Given the description of an element on the screen output the (x, y) to click on. 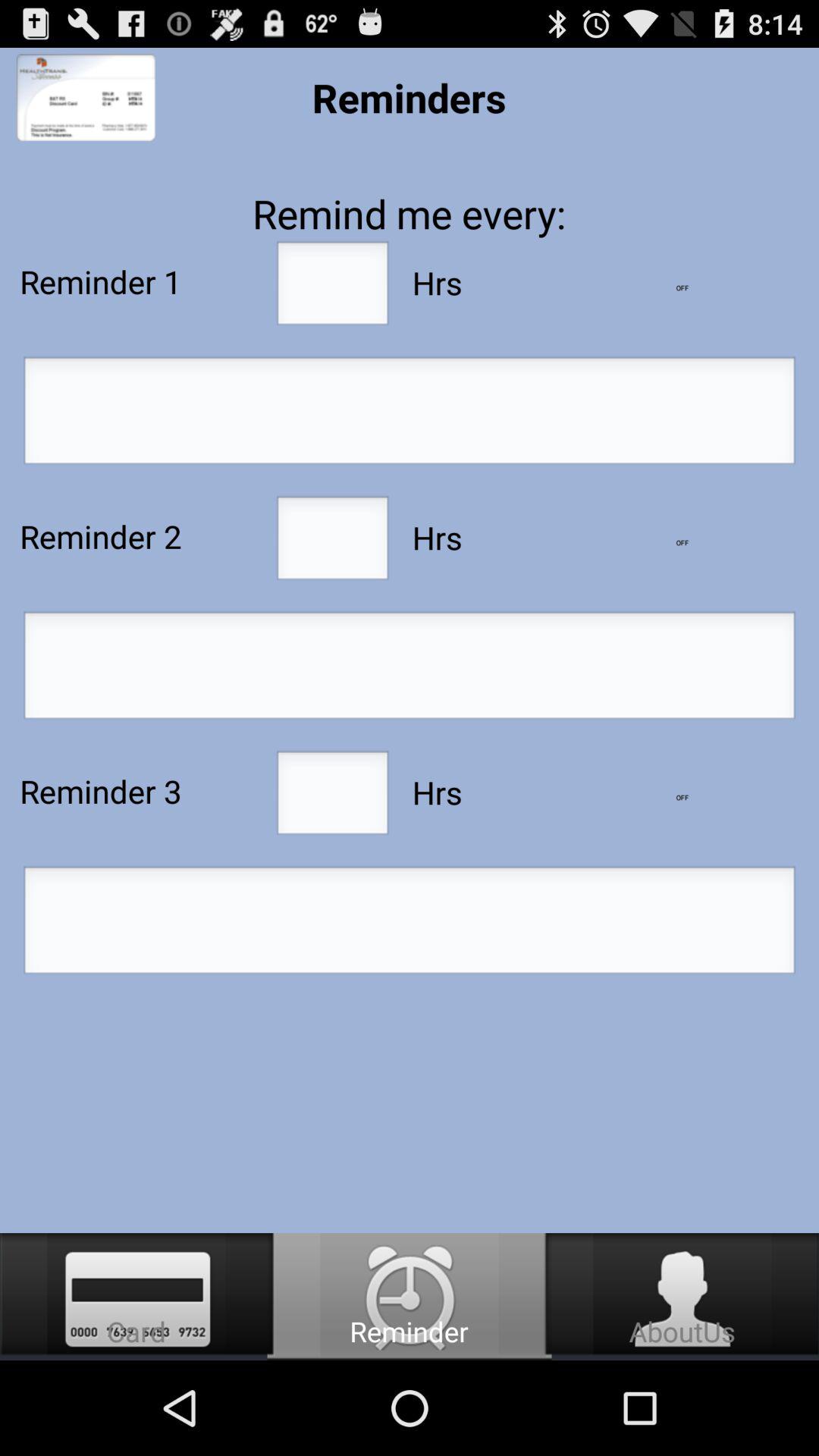
enter reminder (409, 669)
